Given the description of an element on the screen output the (x, y) to click on. 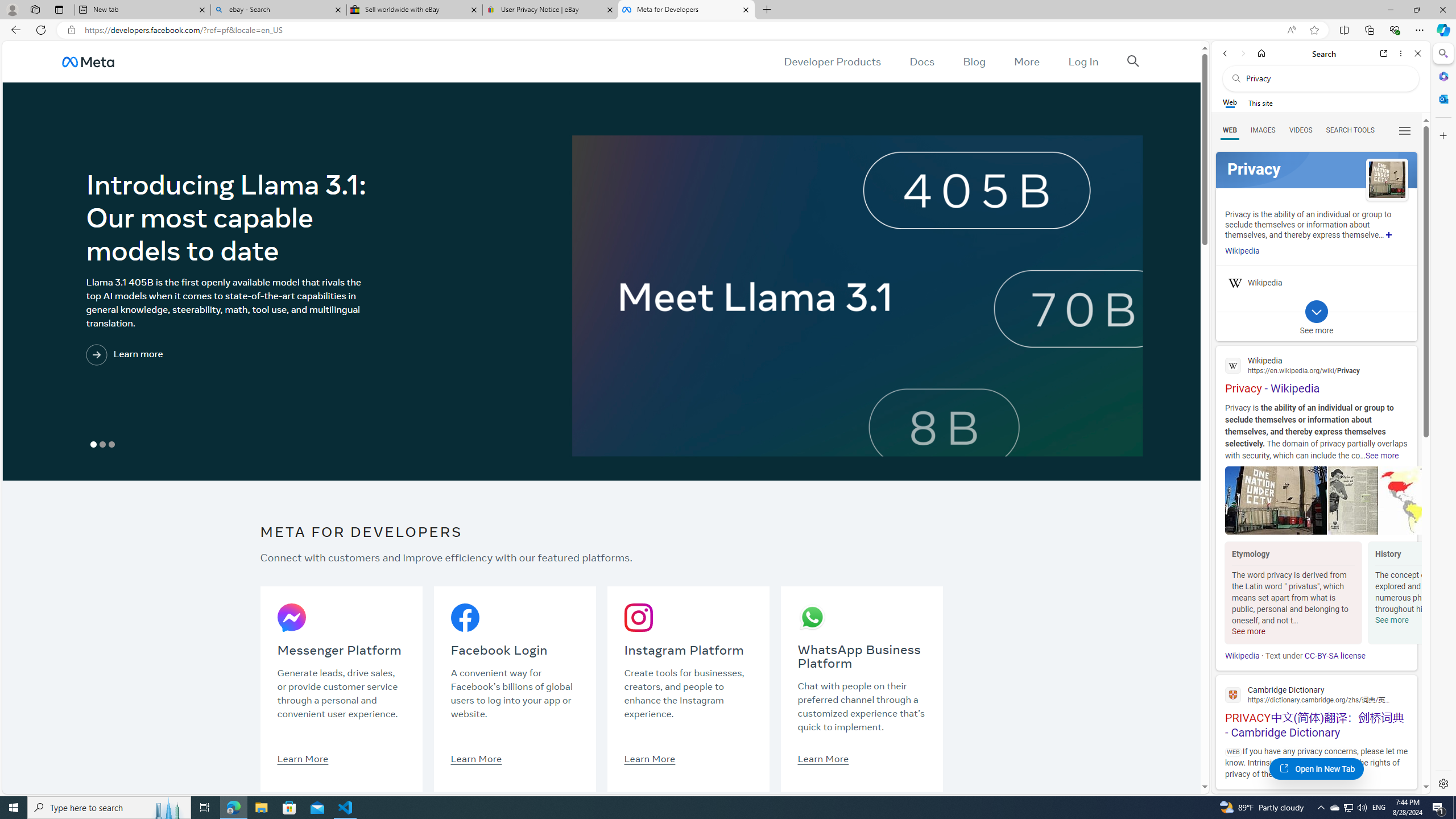
Preferences (1403, 129)
Cambridge Dictionary (1315, 693)
CC-BY-SA license (1334, 655)
Show Slide 3 (112, 444)
Blog (974, 61)
